Given the description of an element on the screen output the (x, y) to click on. 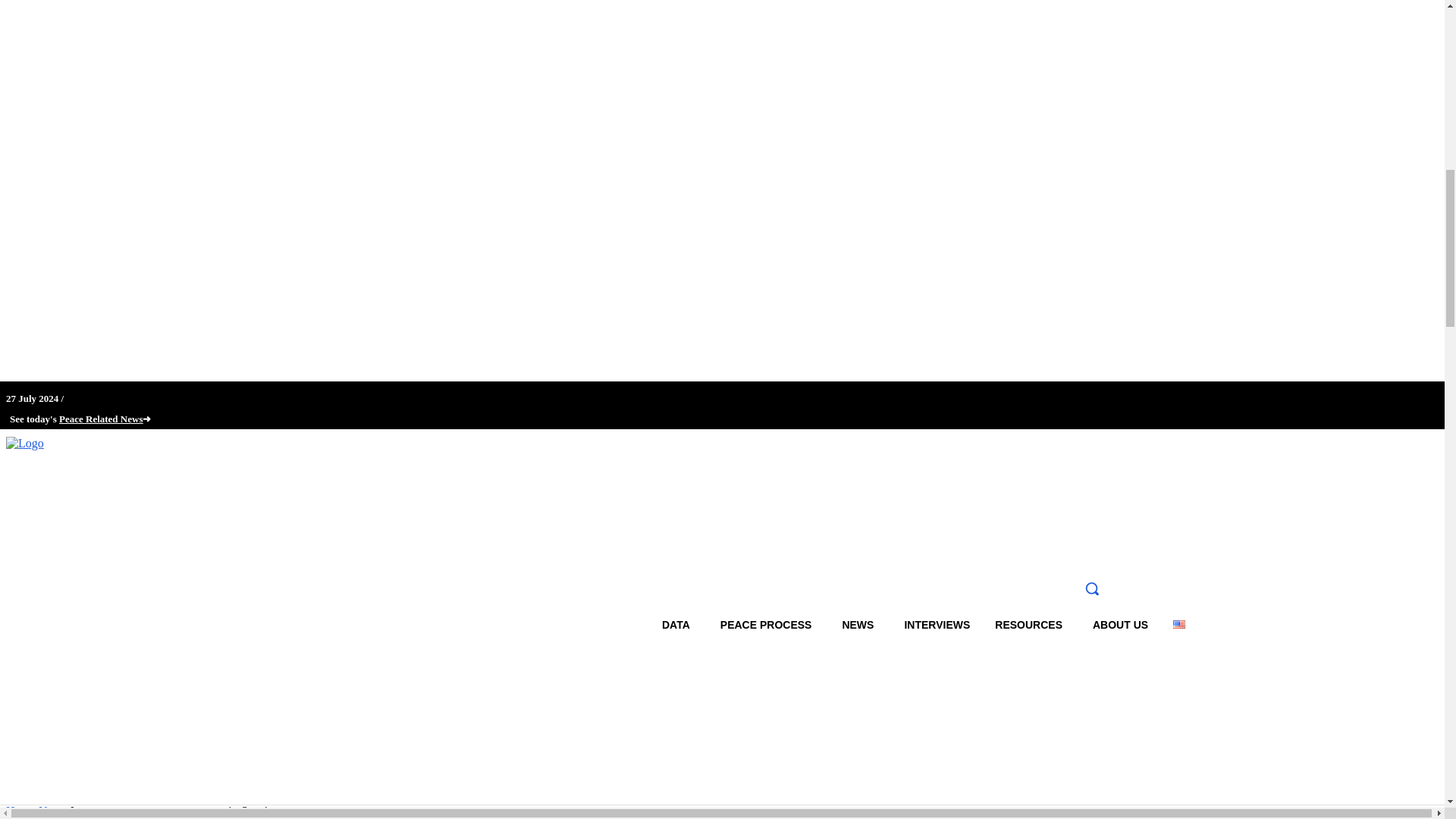
View all posts in News (52, 810)
